Given the description of an element on the screen output the (x, y) to click on. 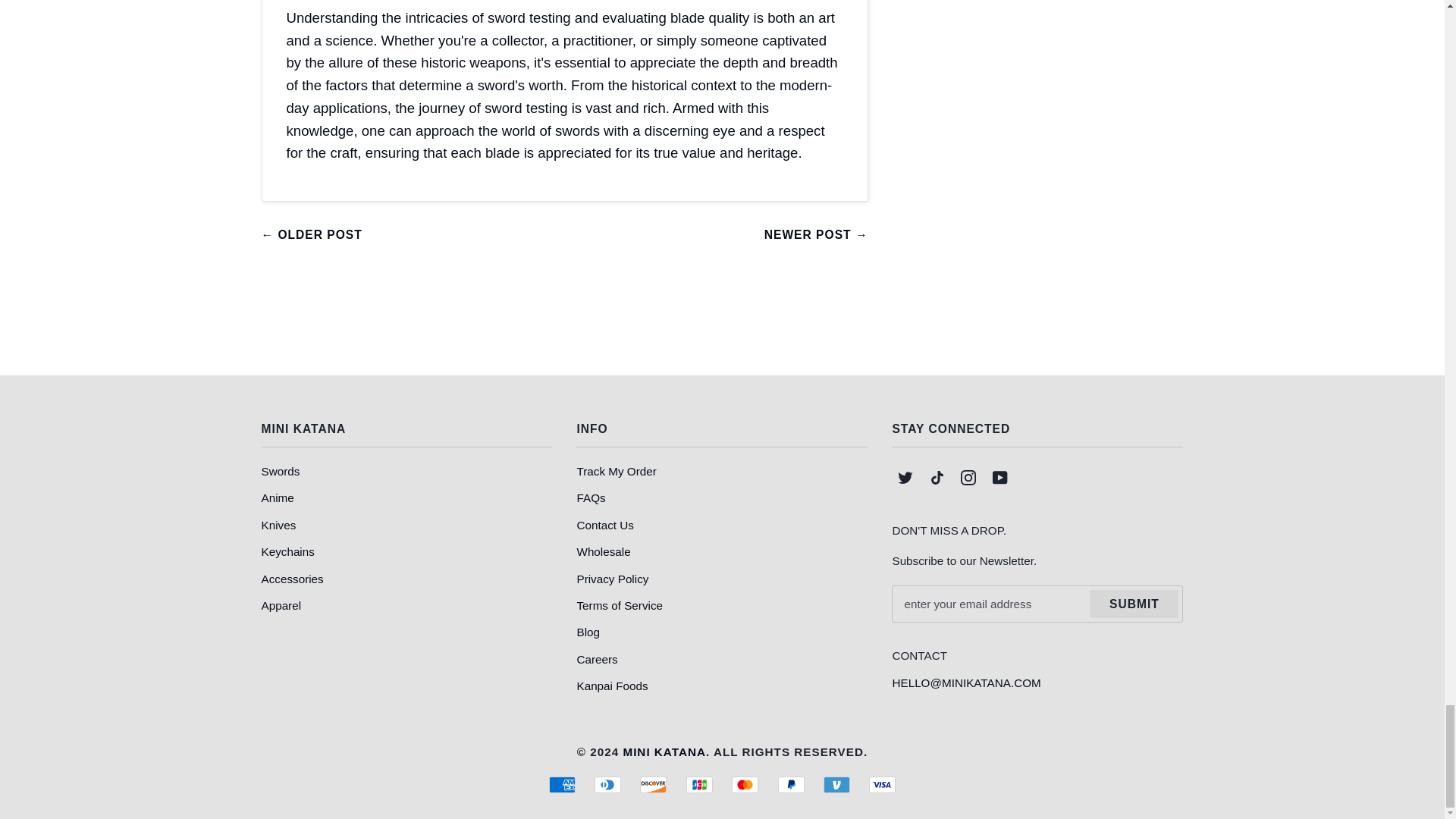
PAYPAL (791, 784)
DINERS CLUB (607, 784)
Twitter (905, 477)
AMERICAN EXPRESS (561, 784)
Instagram (967, 477)
VISA (882, 784)
VENMO (837, 784)
DISCOVER (653, 784)
MASTERCARD (745, 784)
YouTube (999, 477)
JCB (699, 784)
Tiktok (937, 477)
